Given the description of an element on the screen output the (x, y) to click on. 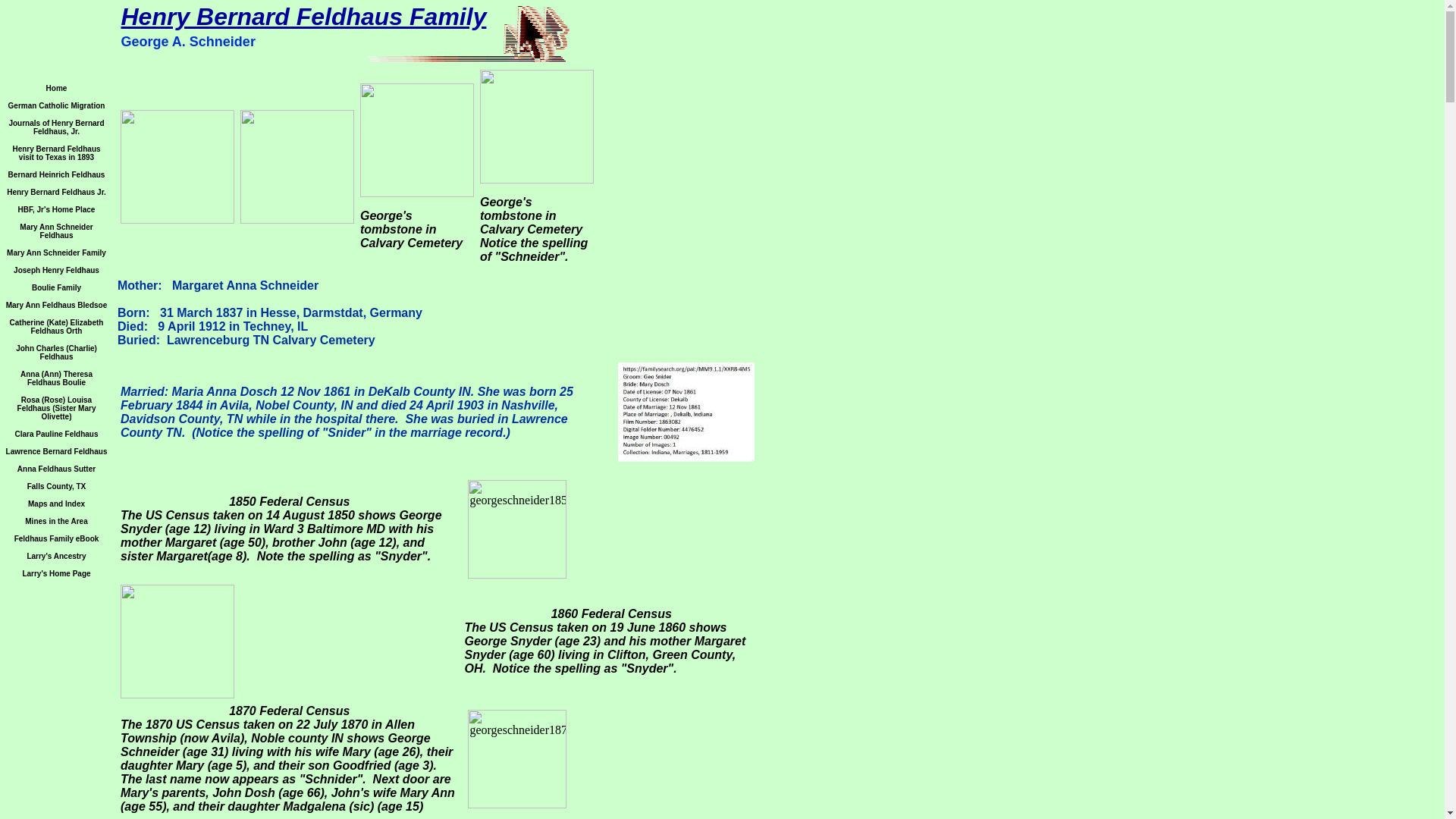
Henry Bernard Feldhaus visit to Texas in 1893 (55, 151)
Mary Ann Feldhaus Bledsoe (56, 303)
Home (56, 86)
Mary Ann Schneider Feldhaus (56, 229)
Lawrence Bernard Feldhaus (56, 449)
Feldhaus Family eBook (56, 536)
Larry's Ancestry (55, 554)
HBF, Jr's Home Place (56, 207)
Anna Feldhaus Sutter (56, 467)
Journals of Henry Bernard Feldhaus, Jr. (55, 125)
Bernard Heinrich Feldhaus (56, 173)
Larry's Home Page (55, 571)
Clara Pauline Feldhaus (55, 431)
German Catholic Migration (56, 103)
Boulie Family (56, 286)
